Given the description of an element on the screen output the (x, y) to click on. 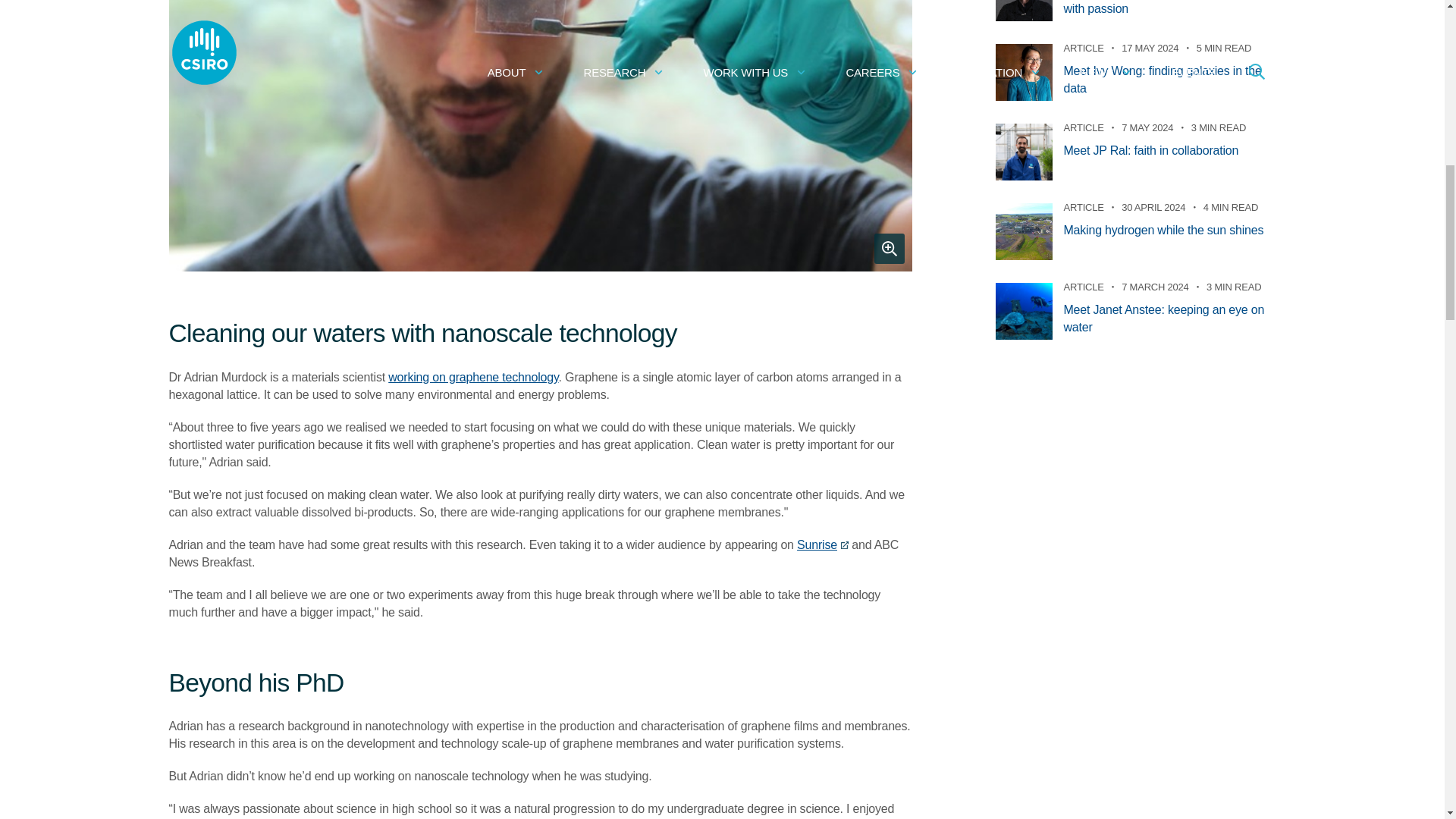
working on graphene technology (472, 376)
Sunrise (822, 544)
